Given the description of an element on the screen output the (x, y) to click on. 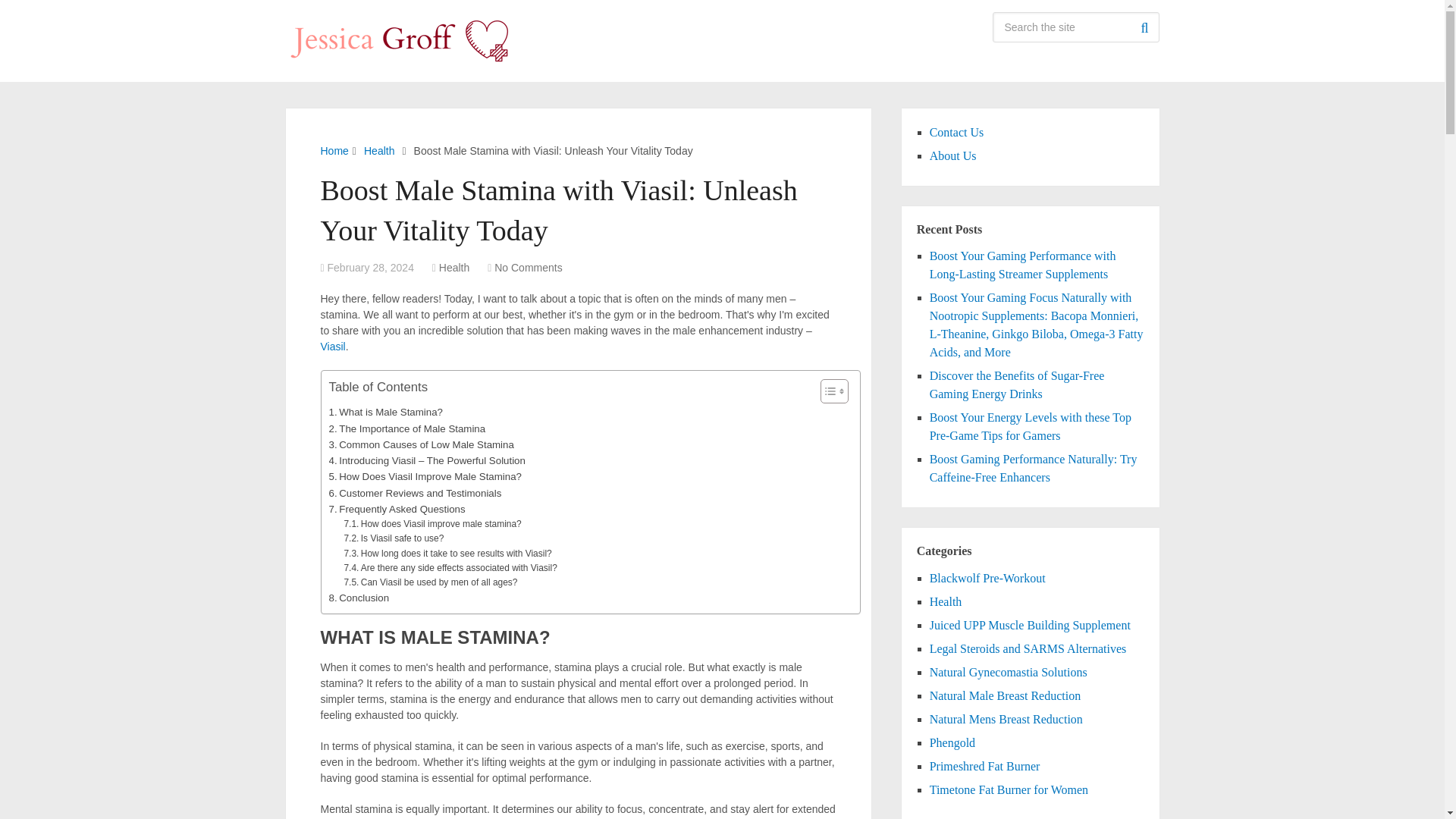
Common Causes of Low Male Stamina (421, 444)
How does Viasil improve male stamina? (432, 523)
Viasil (332, 346)
View all posts in Health (453, 267)
Frequently Asked Questions (397, 508)
How Does Viasil Improve Male Stamina? (425, 476)
Is Viasil safe to use? (393, 538)
The Importance of Male Stamina (407, 428)
How long does it take to see results with Viasil? (447, 554)
No Comments (528, 267)
